Given the description of an element on the screen output the (x, y) to click on. 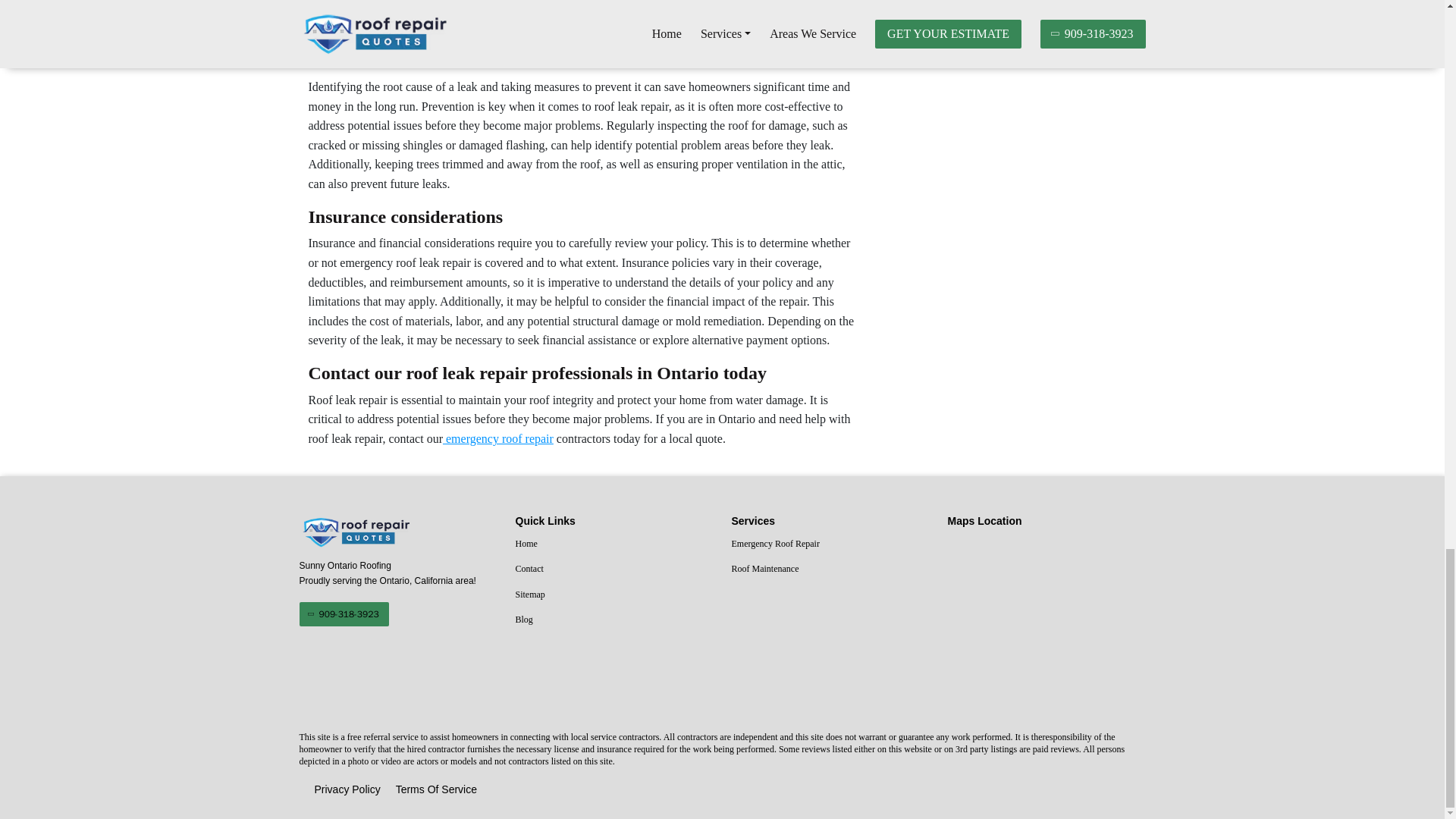
Emergency Roof Repair (829, 544)
Contact (614, 569)
emergency roof repair (497, 438)
Sitemap (614, 595)
Terms Of Service (436, 790)
Roof Maintenance (829, 569)
Blog (614, 619)
Home (614, 544)
Privacy Policy (347, 790)
909-318-3923 (343, 613)
